Given the description of an element on the screen output the (x, y) to click on. 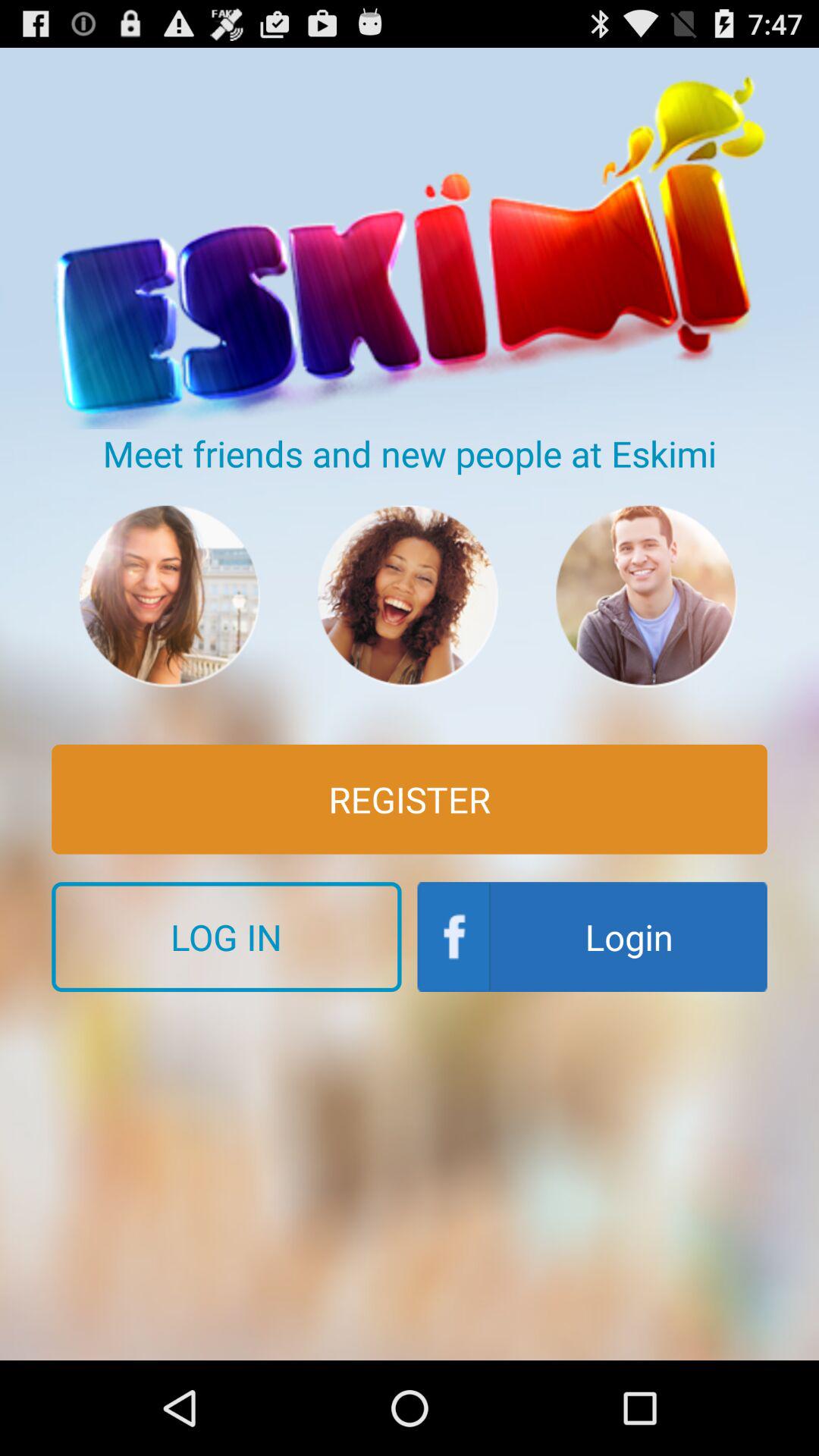
select the button above log in item (409, 799)
